Given the description of an element on the screen output the (x, y) to click on. 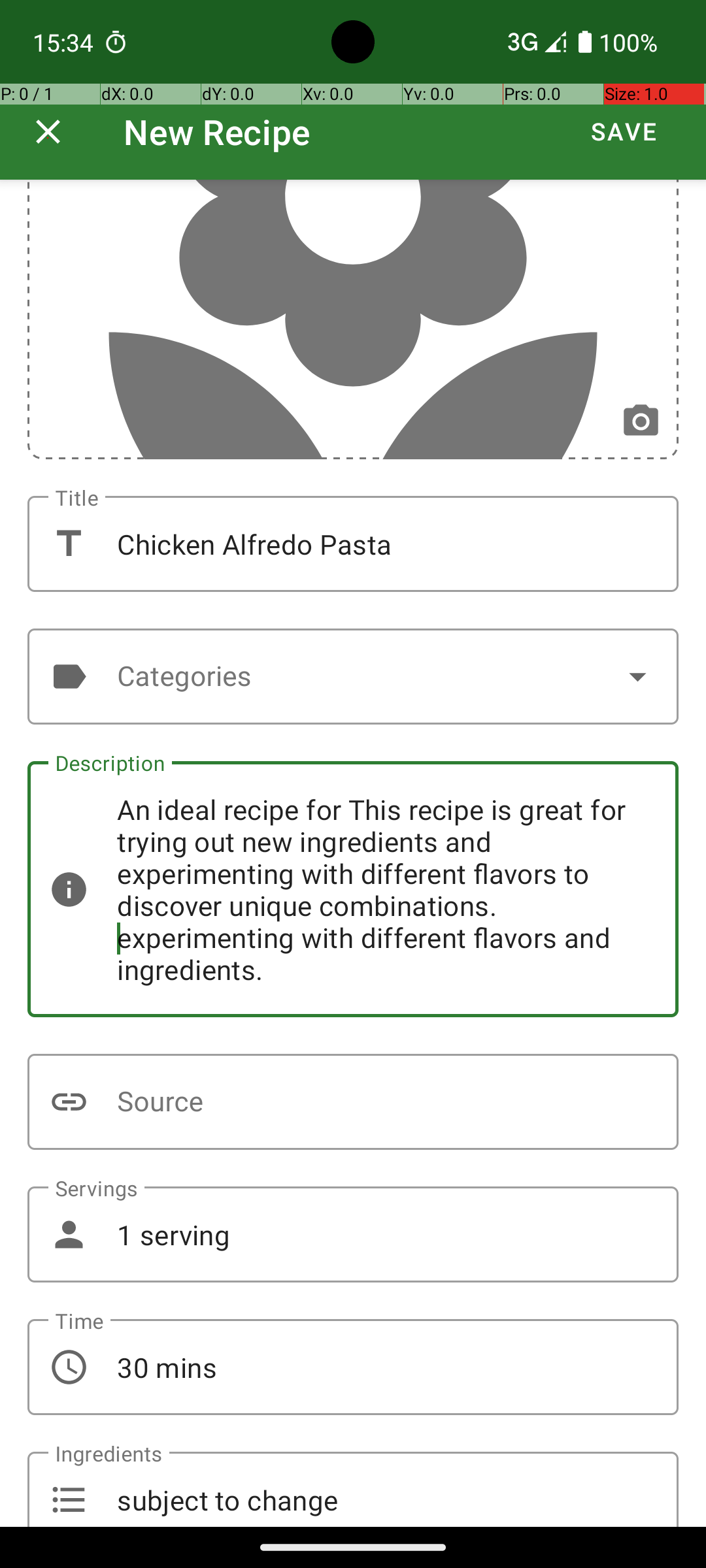
New Recipe Element type: android.widget.TextView (216, 131)
Recipe photo Element type: android.widget.ImageView (352, 319)
Change photo Element type: android.widget.ImageView (640, 421)
Chicken Alfredo Pasta Element type: android.widget.EditText (352, 543)
Categories Element type: android.widget.EditText (352, 676)
An ideal recipe for This recipe is great for trying out new ingredients and experimenting with different flavors to discover unique combinations.
experimenting with different flavors and ingredients. Element type: android.widget.EditText (352, 889)
Source Element type: android.widget.EditText (352, 1101)
1 serving Element type: android.widget.EditText (352, 1234)
30 mins Element type: android.widget.EditText (352, 1367)
subject to change Element type: android.widget.EditText (352, 1488)
